Given the description of an element on the screen output the (x, y) to click on. 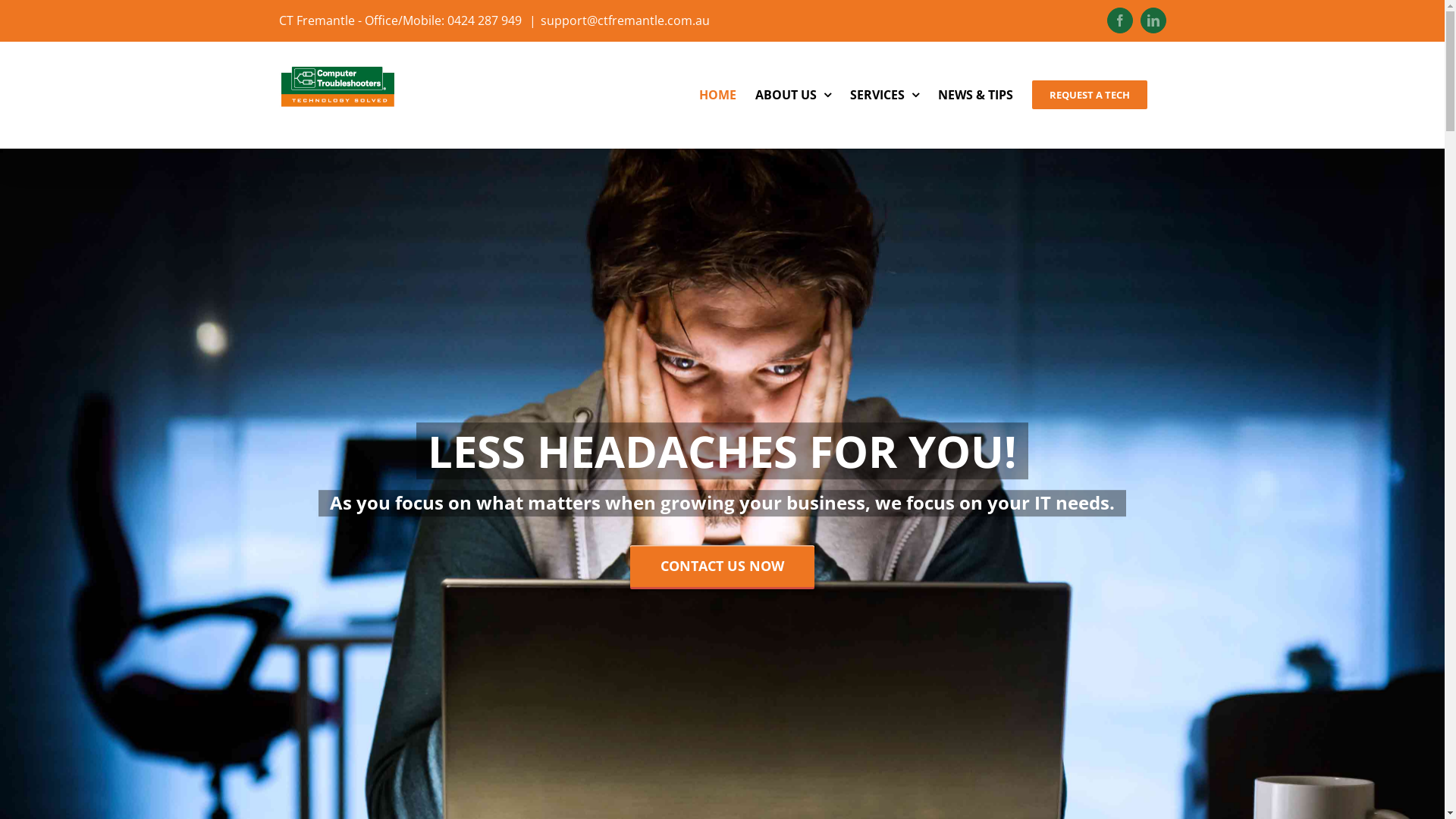
CONTACT US NOW Element type: text (722, 583)
NEWS & TIPS Element type: text (974, 94)
support@ctfremantle.com.au Element type: text (624, 20)
ABOUT US Element type: text (793, 94)
HOME Element type: text (717, 94)
Facebook Element type: text (1119, 20)
SERVICES Element type: text (883, 94)
LinkedIn Element type: text (1153, 20)
REQUEST A TECH Element type: text (1088, 94)
